Given the description of an element on the screen output the (x, y) to click on. 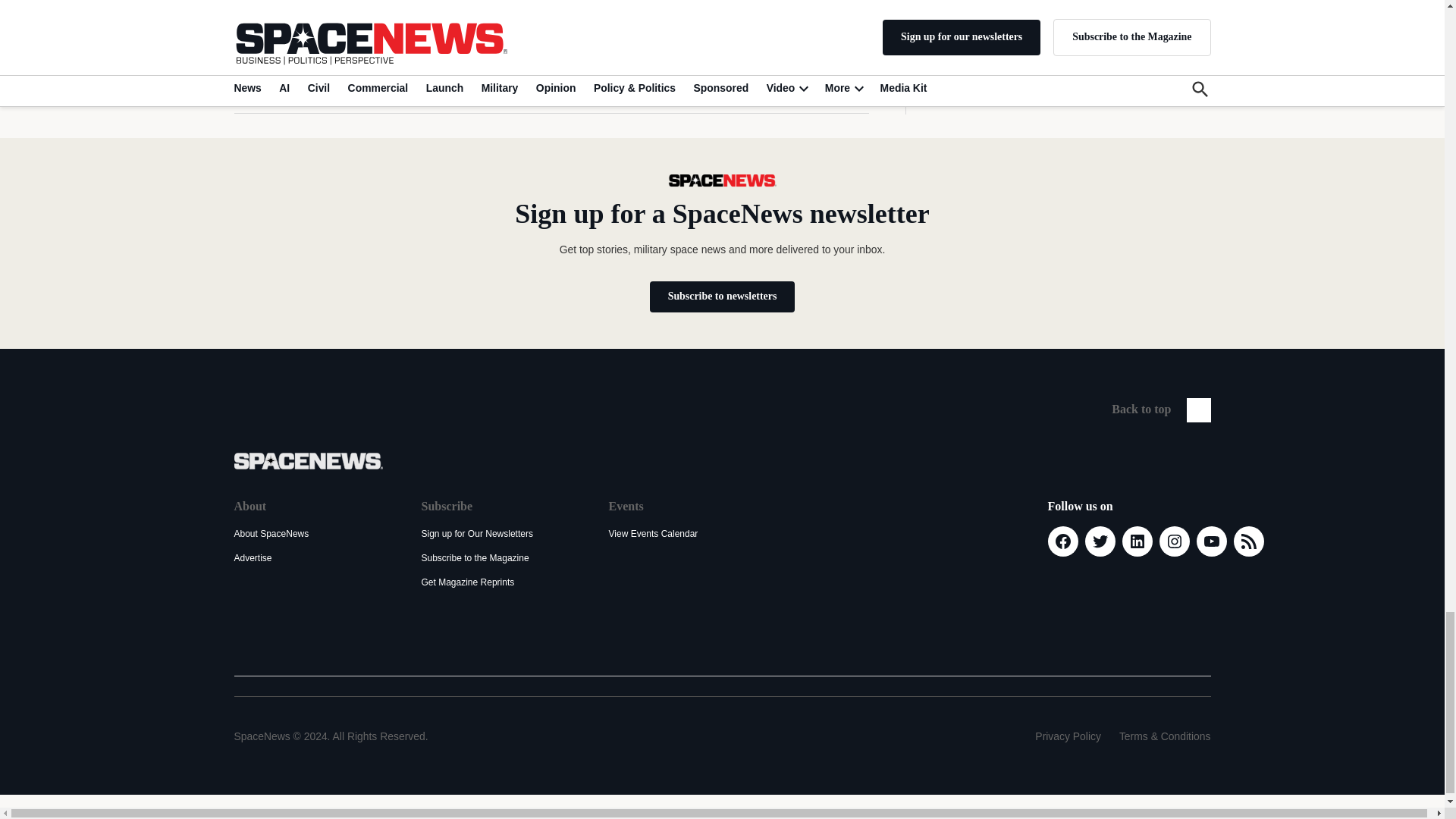
Click to share on Reddit (352, 79)
Click to share on Facebook (286, 79)
Click to share on LinkedIn (319, 79)
Click to email a link to a friend (386, 79)
Click to share on Clipboard (419, 80)
Click to share on X (253, 79)
